Given the description of an element on the screen output the (x, y) to click on. 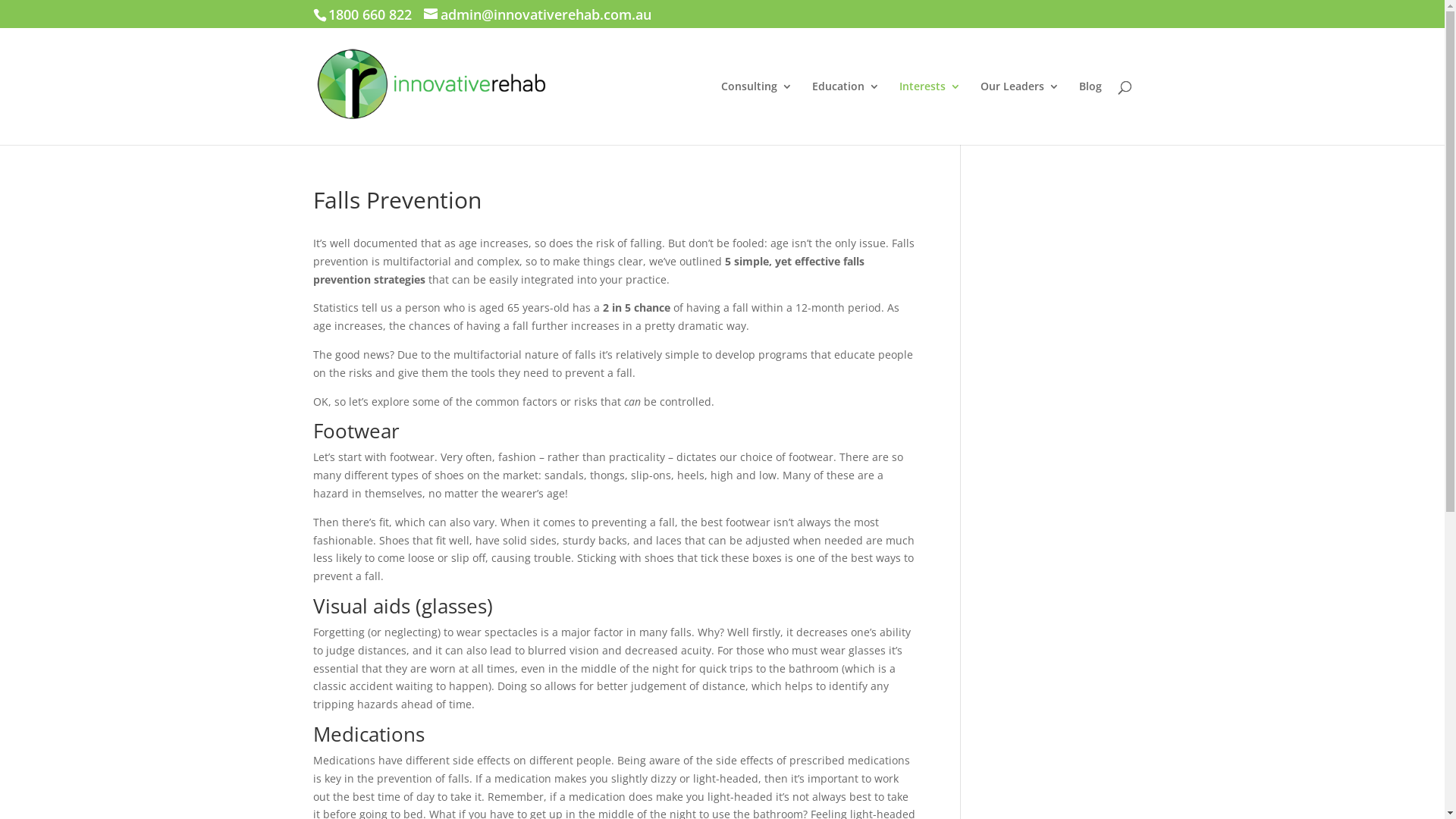
Our Leaders Element type: text (1018, 112)
Education Element type: text (844, 112)
Interests Element type: text (929, 112)
admin@innovativerehab.com.au Element type: text (536, 15)
Consulting Element type: text (755, 112)
Blog Element type: text (1089, 112)
